Given the description of an element on the screen output the (x, y) to click on. 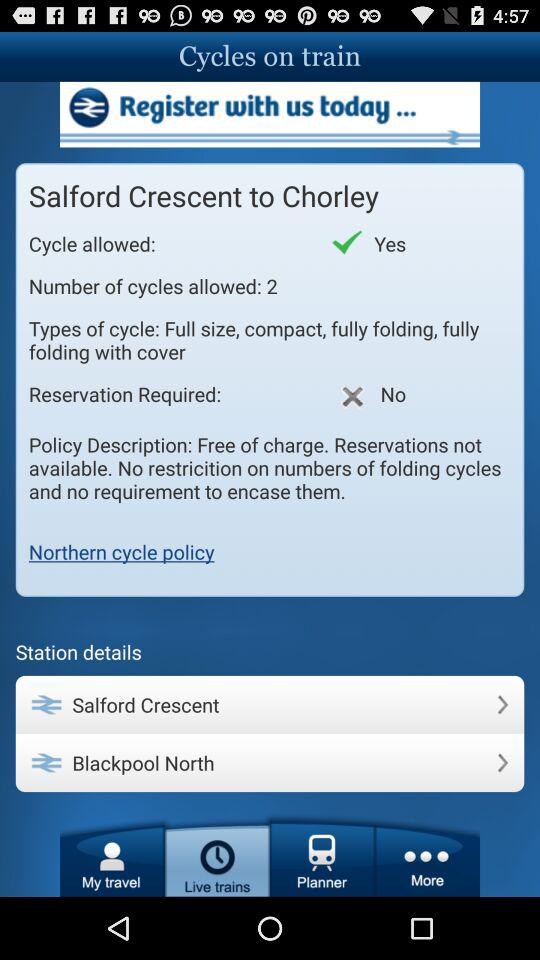
view advertisement (270, 114)
